Given the description of an element on the screen output the (x, y) to click on. 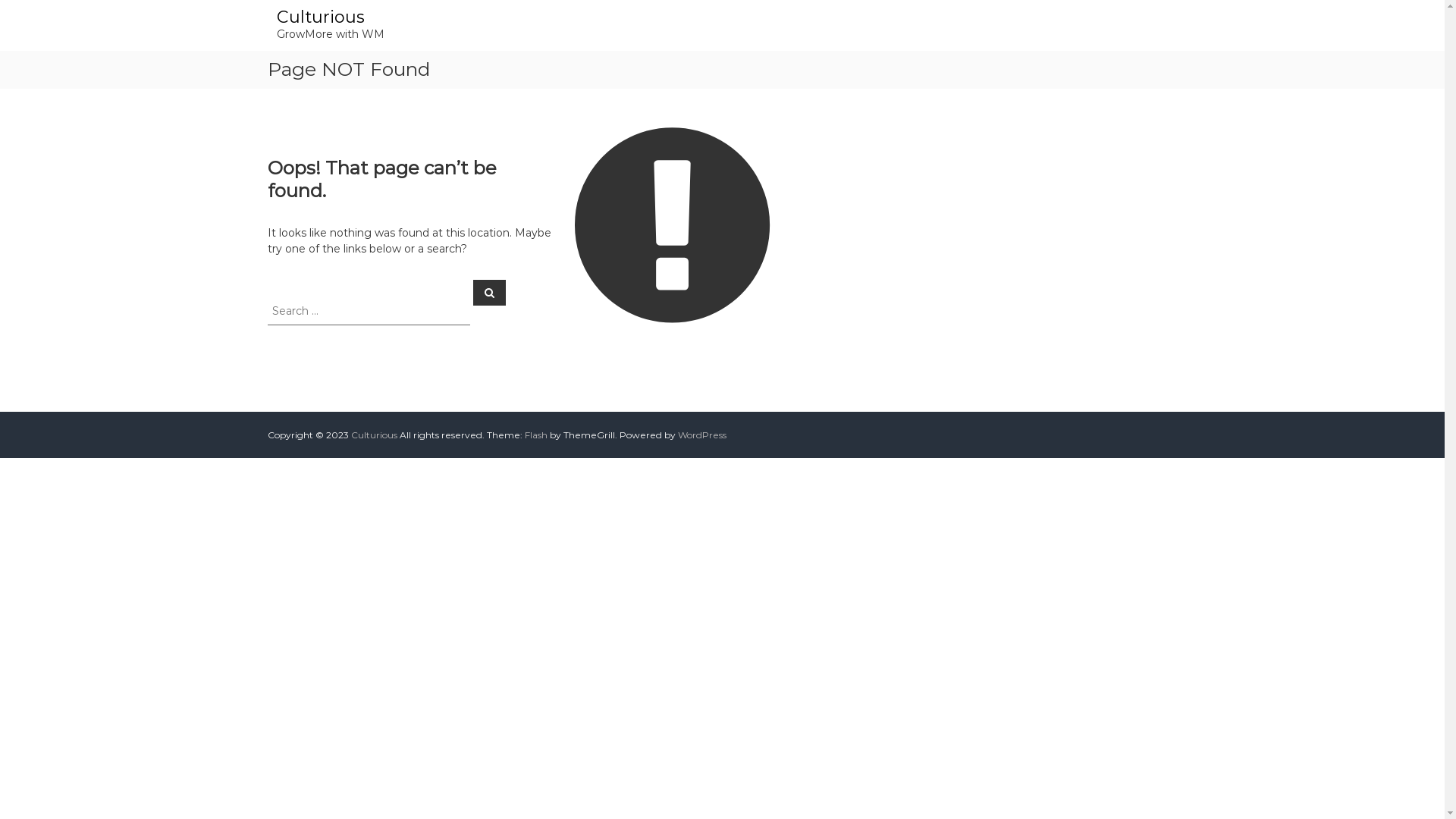
Culturious Element type: text (373, 434)
Flash Element type: text (535, 434)
Culturious Element type: text (320, 16)
Search Element type: text (489, 291)
WordPress Element type: text (701, 434)
